Given the description of an element on the screen output the (x, y) to click on. 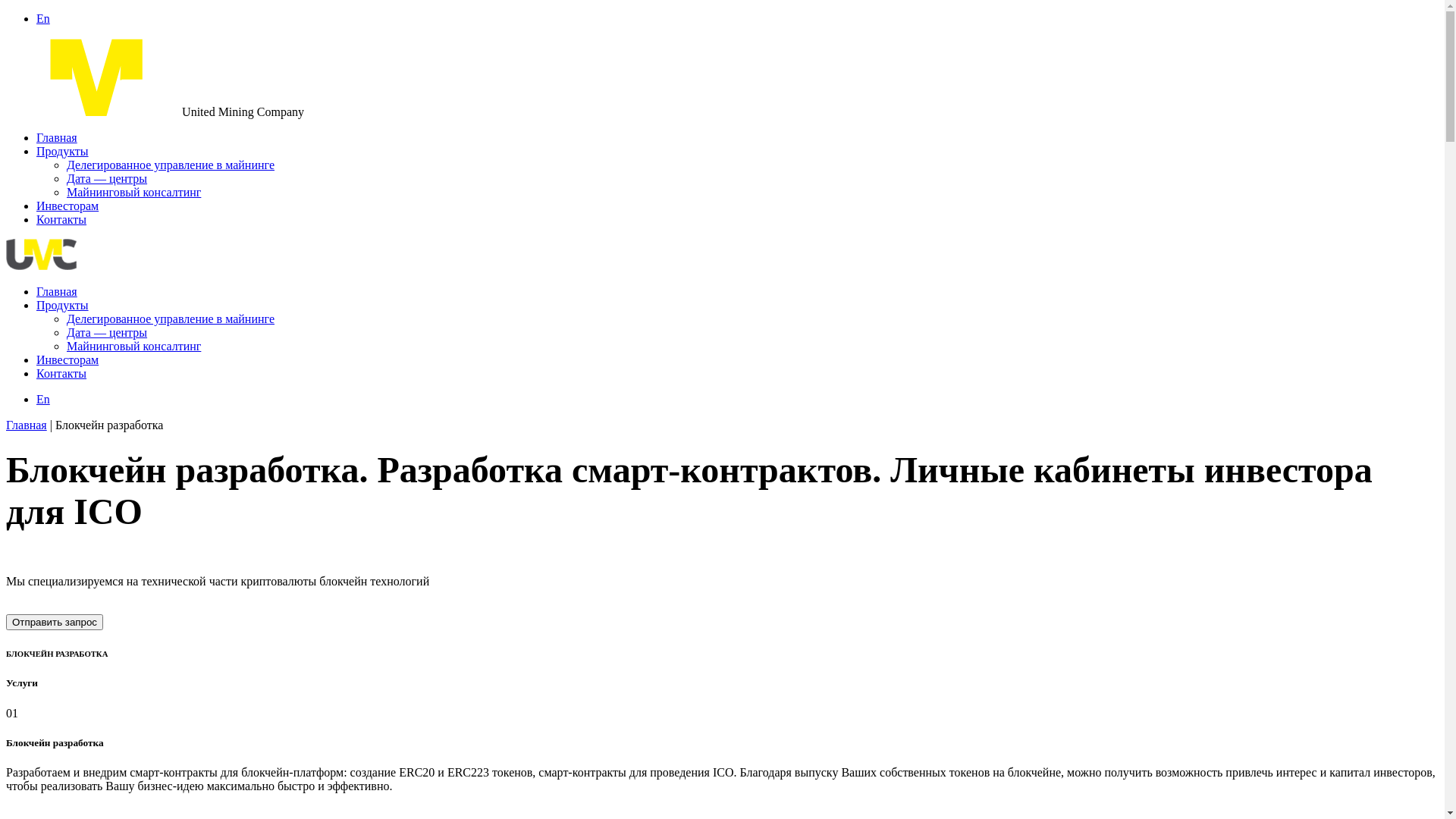
En Element type: text (43, 18)
En Element type: text (43, 398)
